Given the description of an element on the screen output the (x, y) to click on. 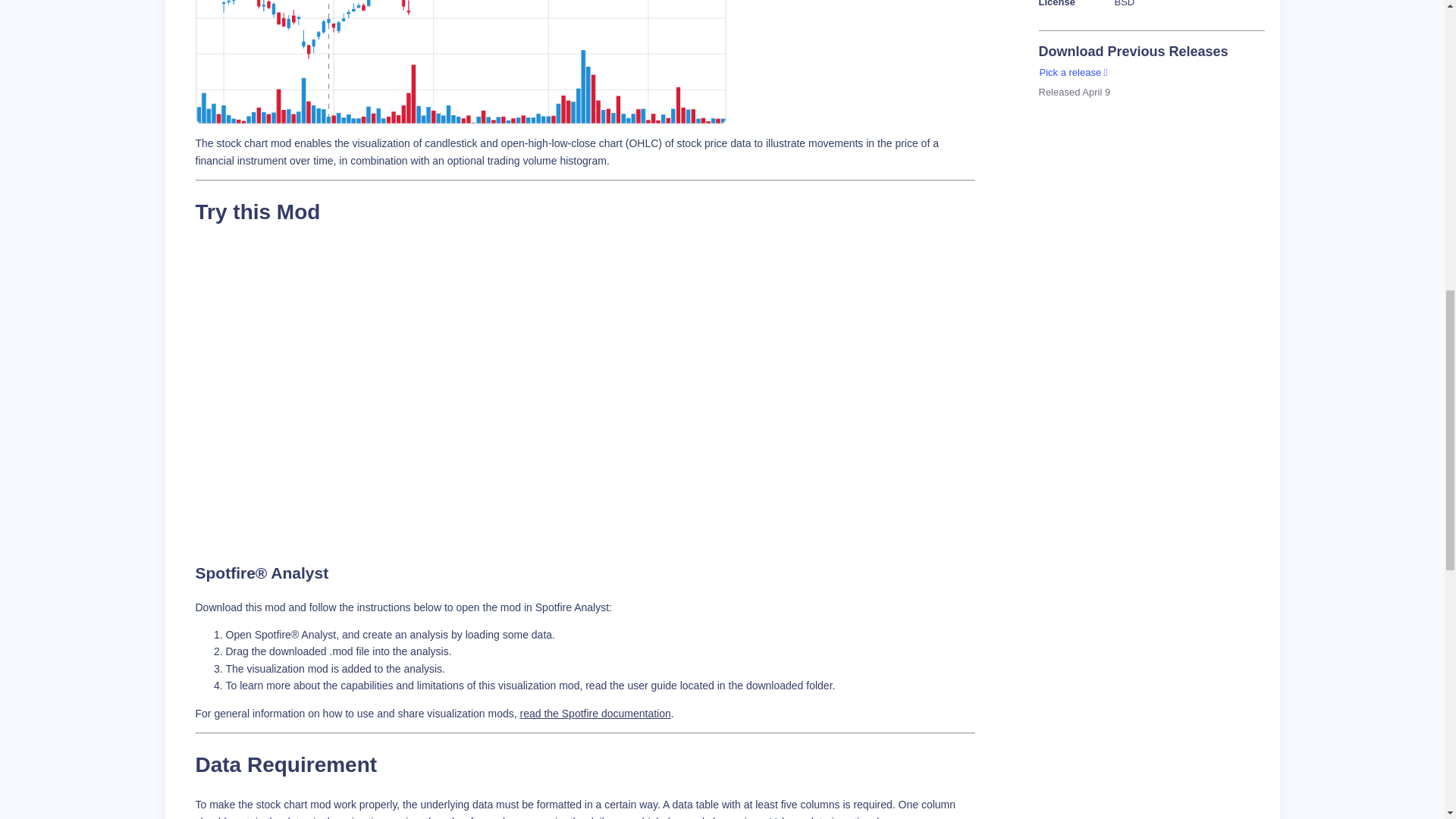
See the version history for this file (1073, 72)
